Given the description of an element on the screen output the (x, y) to click on. 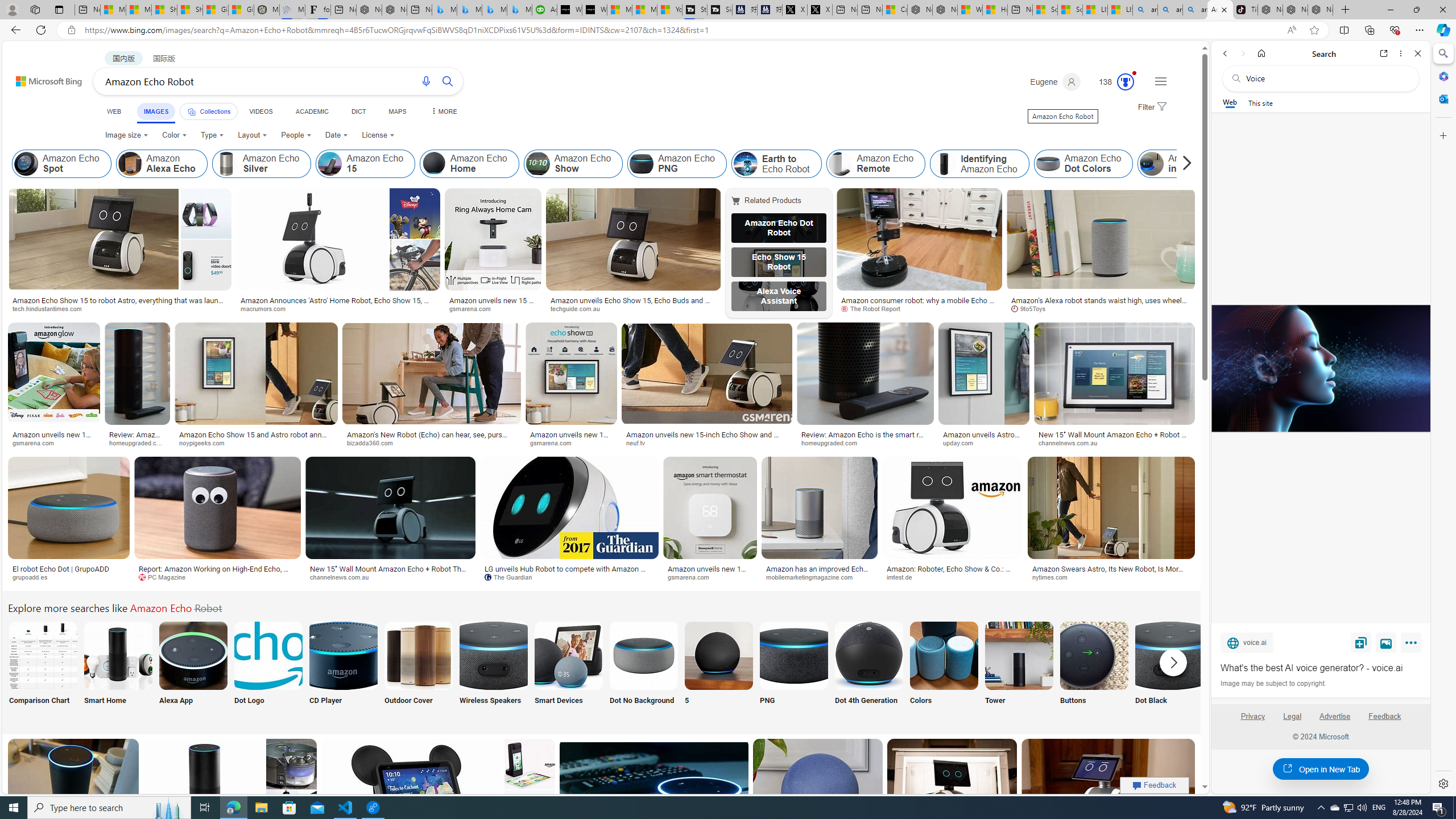
upday.com (984, 442)
Nordace - Siena Pro 15 Essential Set (1320, 9)
View image (1385, 642)
Amazon Echo Show (537, 163)
Buttons (1093, 669)
ACADEMIC (311, 111)
Dropdown Menu (443, 111)
MORE (443, 111)
Filter (1150, 107)
